Given the description of an element on the screen output the (x, y) to click on. 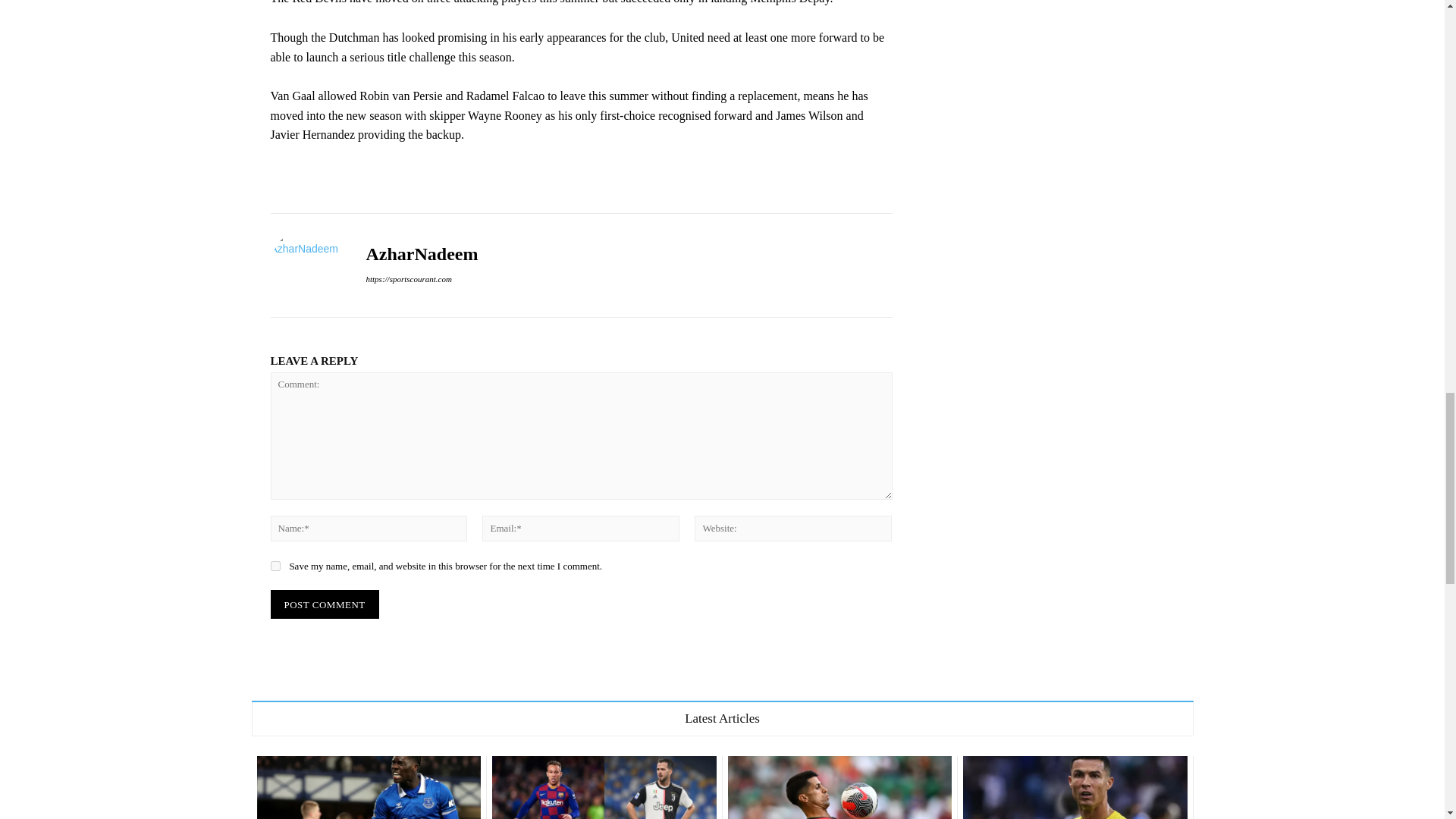
Post Comment (323, 604)
yes (274, 565)
AzharNadeem (421, 254)
Post Comment (323, 604)
AzharNadeem (305, 265)
